Given the description of an element on the screen output the (x, y) to click on. 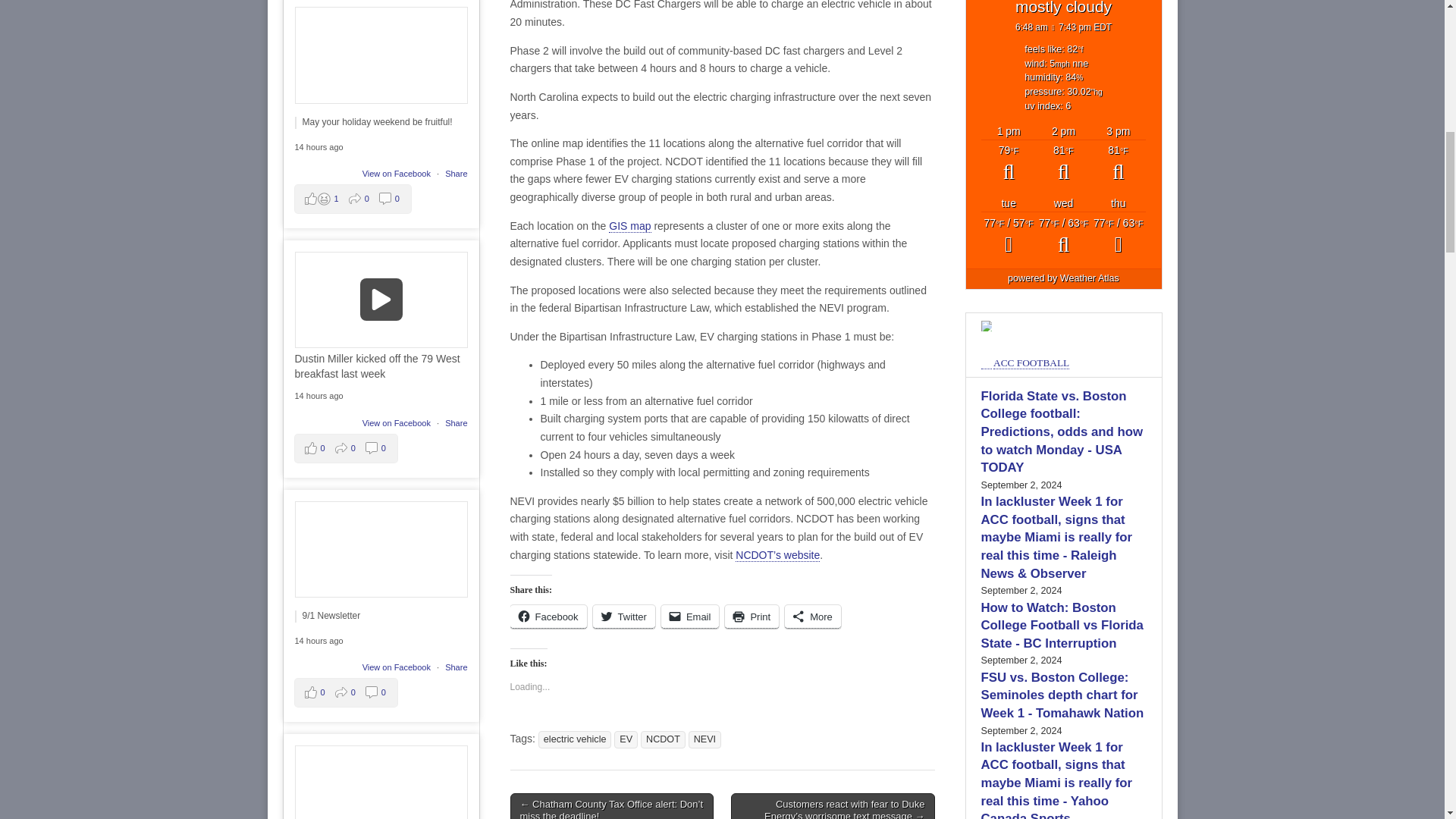
Click to email a link to a friend (690, 616)
Click to share on Twitter (623, 616)
Click to share on Facebook (547, 616)
Click to print (751, 616)
